Given the description of an element on the screen output the (x, y) to click on. 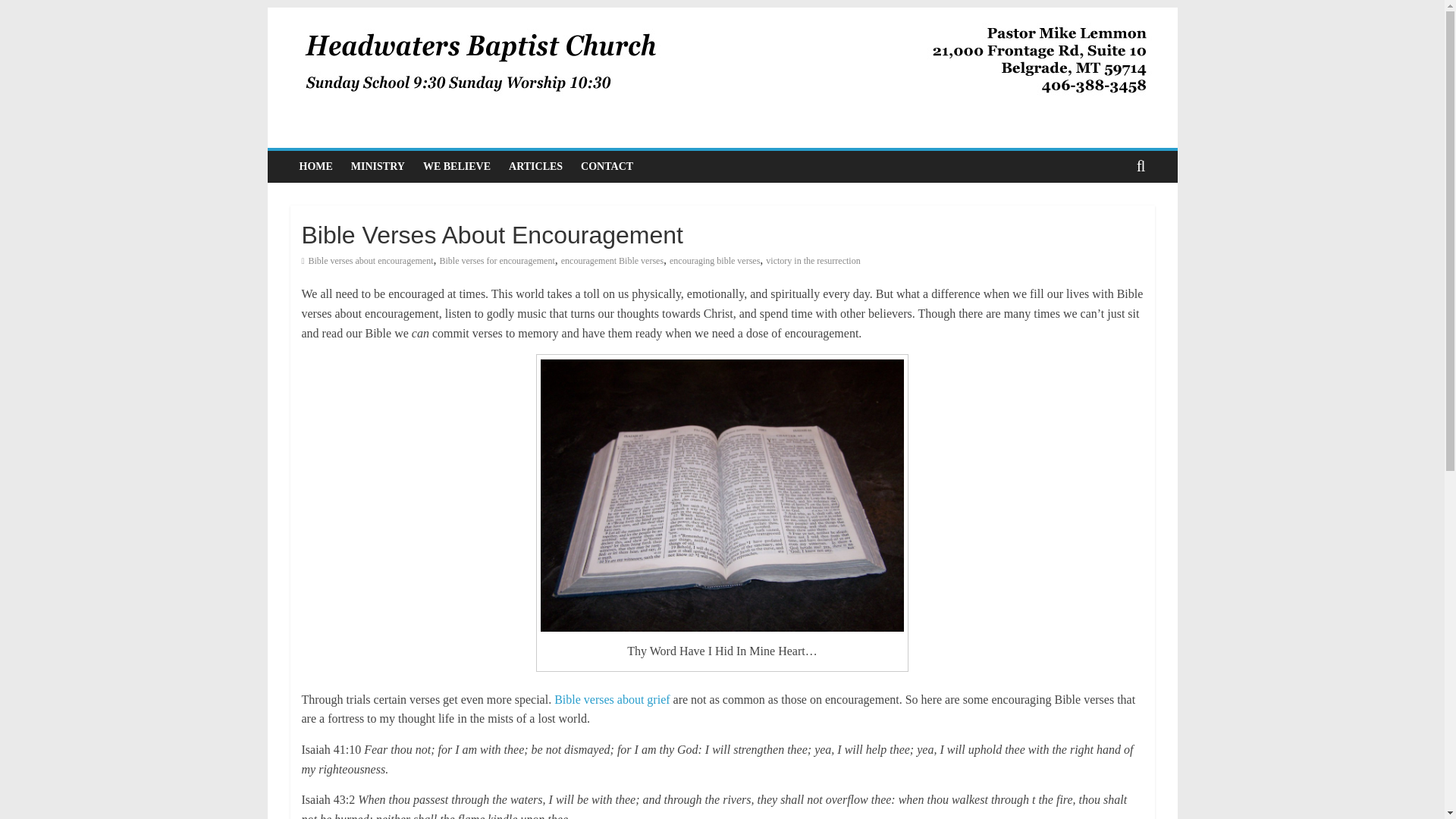
Bible verses for encouragement (496, 260)
CONTACT (607, 166)
victory in the resurrection (812, 260)
Bible verses about grief (610, 698)
WE BELIEVE (456, 166)
Bible verses about encouragement (370, 260)
HOME (314, 166)
ARTICLES (535, 166)
MINISTRY (377, 166)
